Given the description of an element on the screen output the (x, y) to click on. 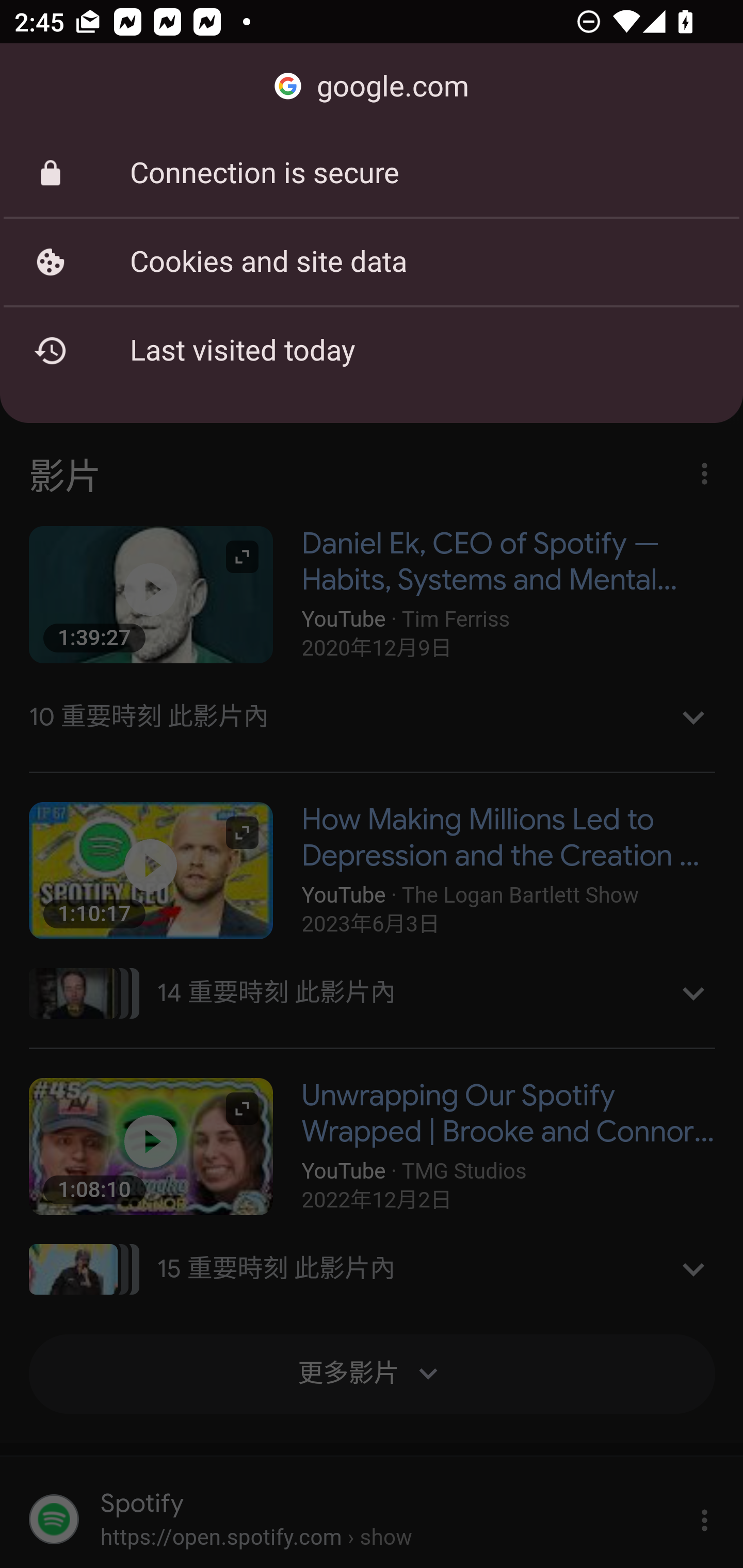
google.com (371, 86)
Connection is secure (371, 173)
Cookies and site data (371, 261)
Last visited today (371, 350)
